Given the description of an element on the screen output the (x, y) to click on. 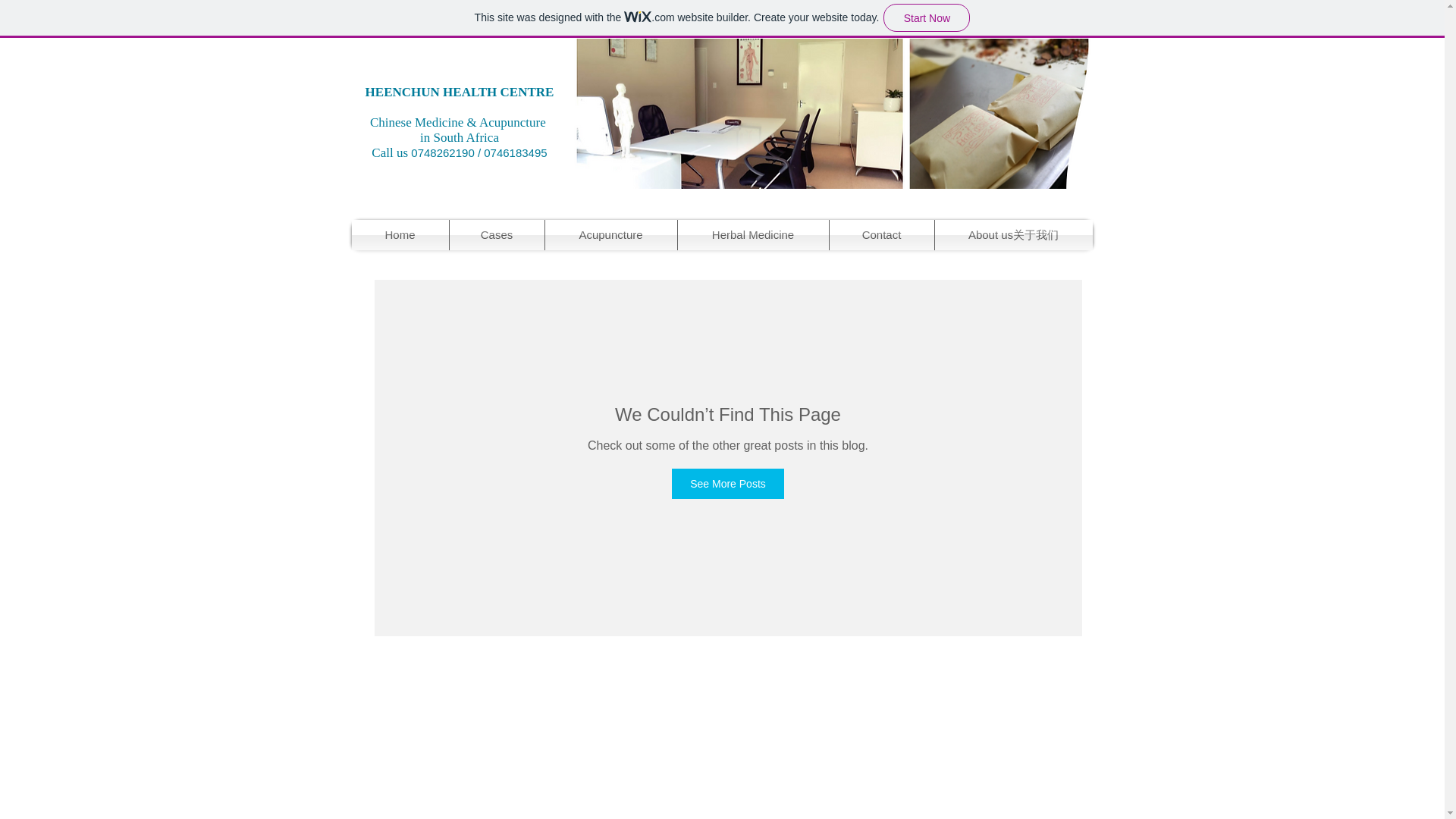
Acupuncture (610, 235)
Cases (495, 235)
Home (400, 235)
Contact (881, 235)
Acupuncture Clinic (832, 113)
See More Posts (727, 483)
Herbal Medicine (753, 235)
